Given the description of an element on the screen output the (x, y) to click on. 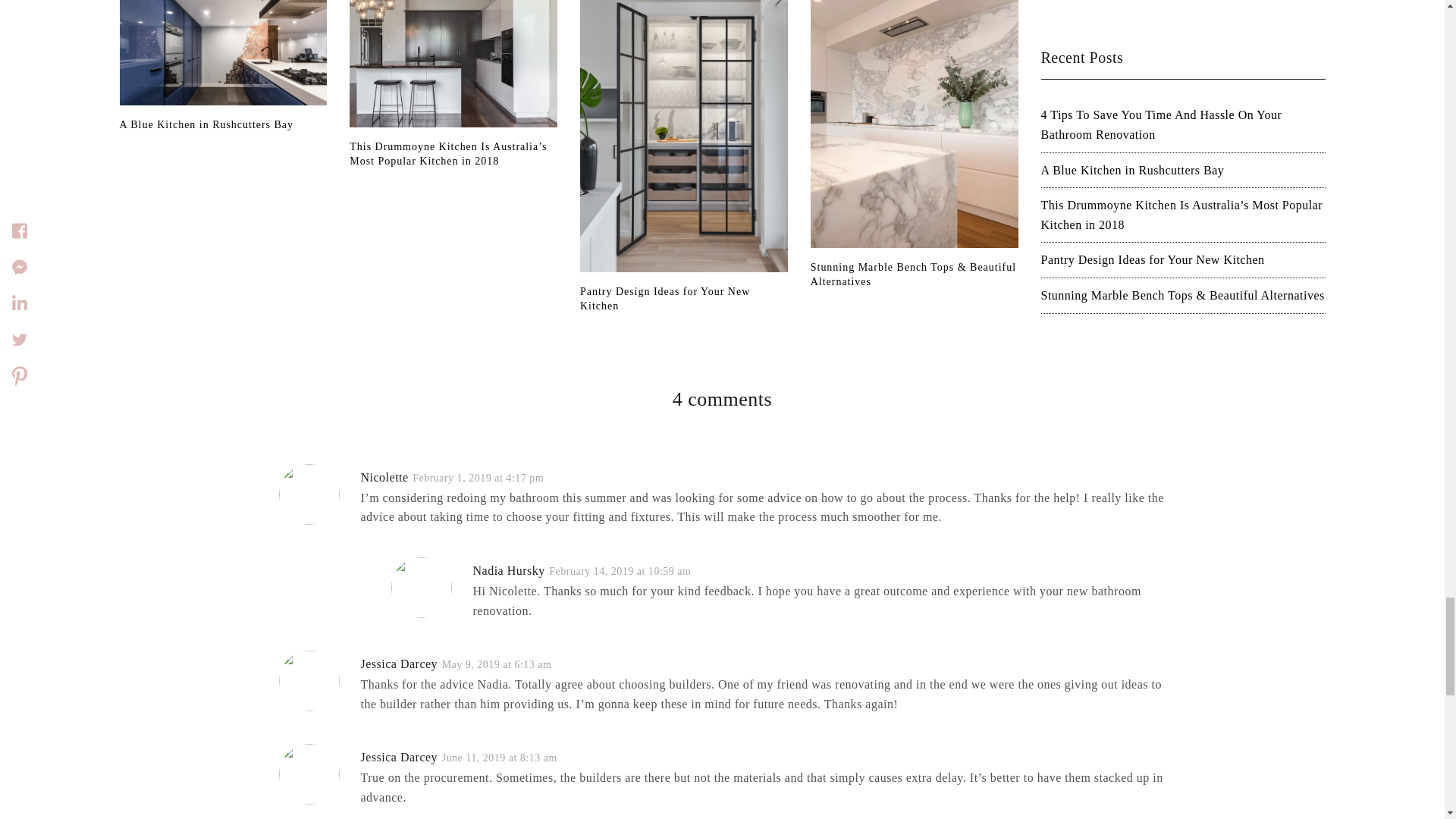
February 14, 2019 at 10:59 am (619, 571)
A Blue Kitchen in Rushcutters Bay (223, 124)
A Blue Kitchen in Rushcutters Bay (223, 124)
June 11, 2019 at 8:13 am (499, 757)
May 9, 2019 at 6:13 am (496, 664)
Pantry Design Ideas for Your New Kitchen (683, 298)
February 1, 2019 at 4:17 pm (477, 478)
Pantry Design Ideas for Your New Kitchen (683, 298)
